Given the description of an element on the screen output the (x, y) to click on. 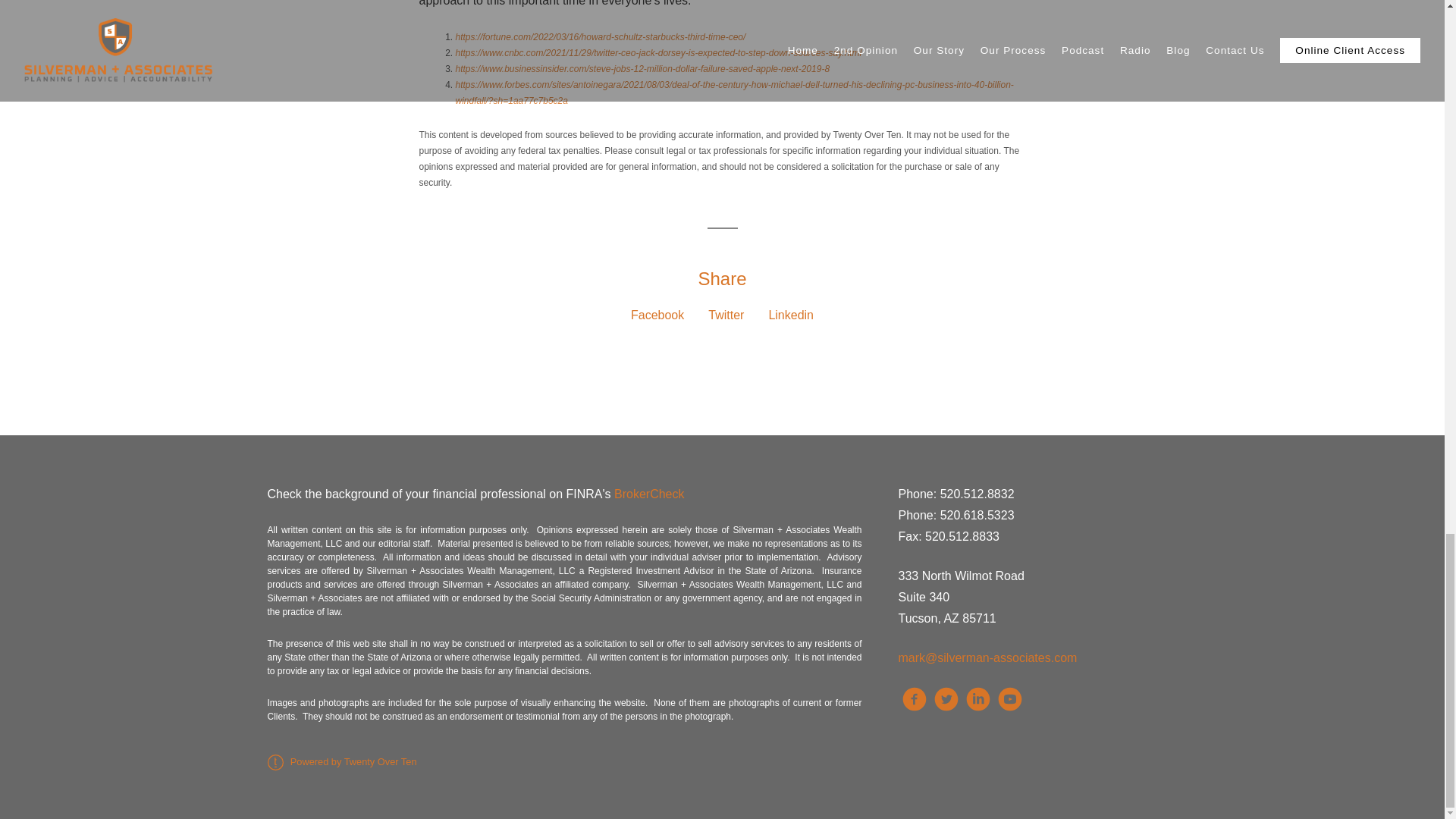
Facebook (657, 314)
BrokerCheck (649, 493)
Linkedin (790, 314)
Powered by Twenty Over Ten (341, 761)
